Given the description of an element on the screen output the (x, y) to click on. 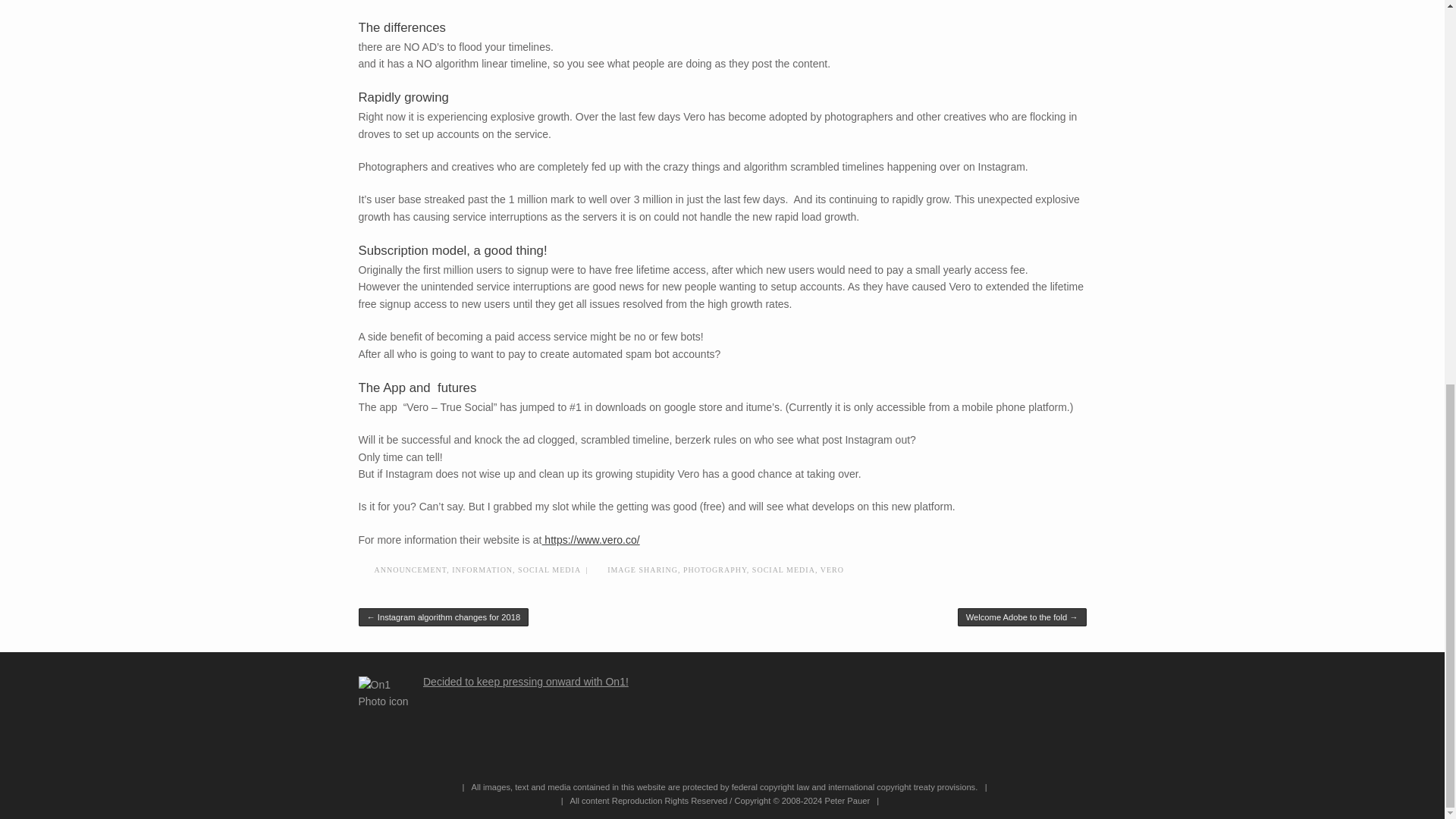
ANNOUNCEMENT (410, 569)
Decided to keep pressing onward with On1! (525, 681)
IMAGE SHARING (642, 569)
Peter Pauer Photography (728, 793)
INFORMATION (481, 569)
VERO (832, 569)
SOCIAL MEDIA (549, 569)
SOCIAL MEDIA (783, 569)
PHOTOGRAPHY (714, 569)
